Given the description of an element on the screen output the (x, y) to click on. 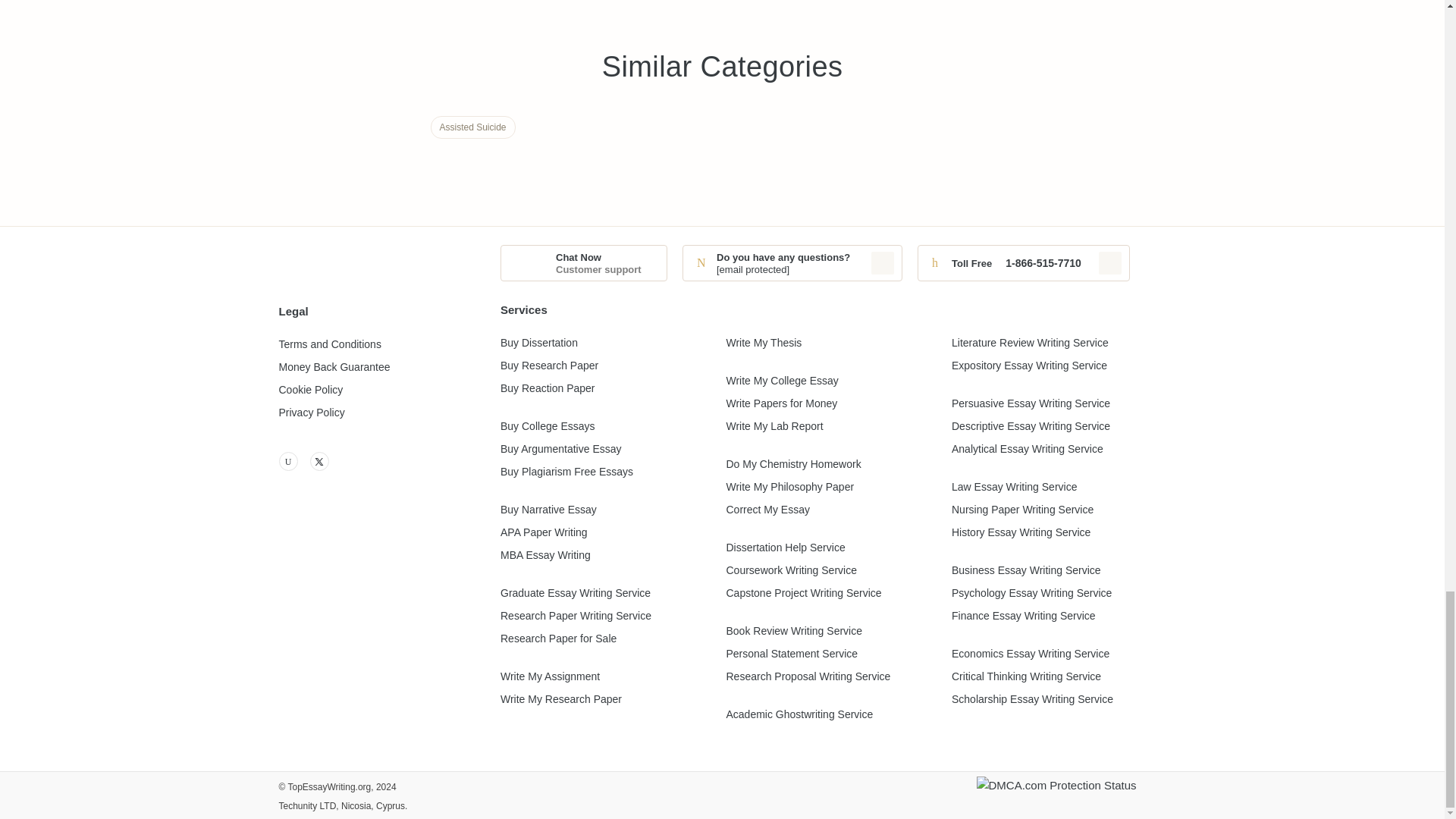
Copied to clipboard (1110, 262)
DMCA.com Protection Status (1071, 795)
Copied to clipboard (881, 262)
